Given the description of an element on the screen output the (x, y) to click on. 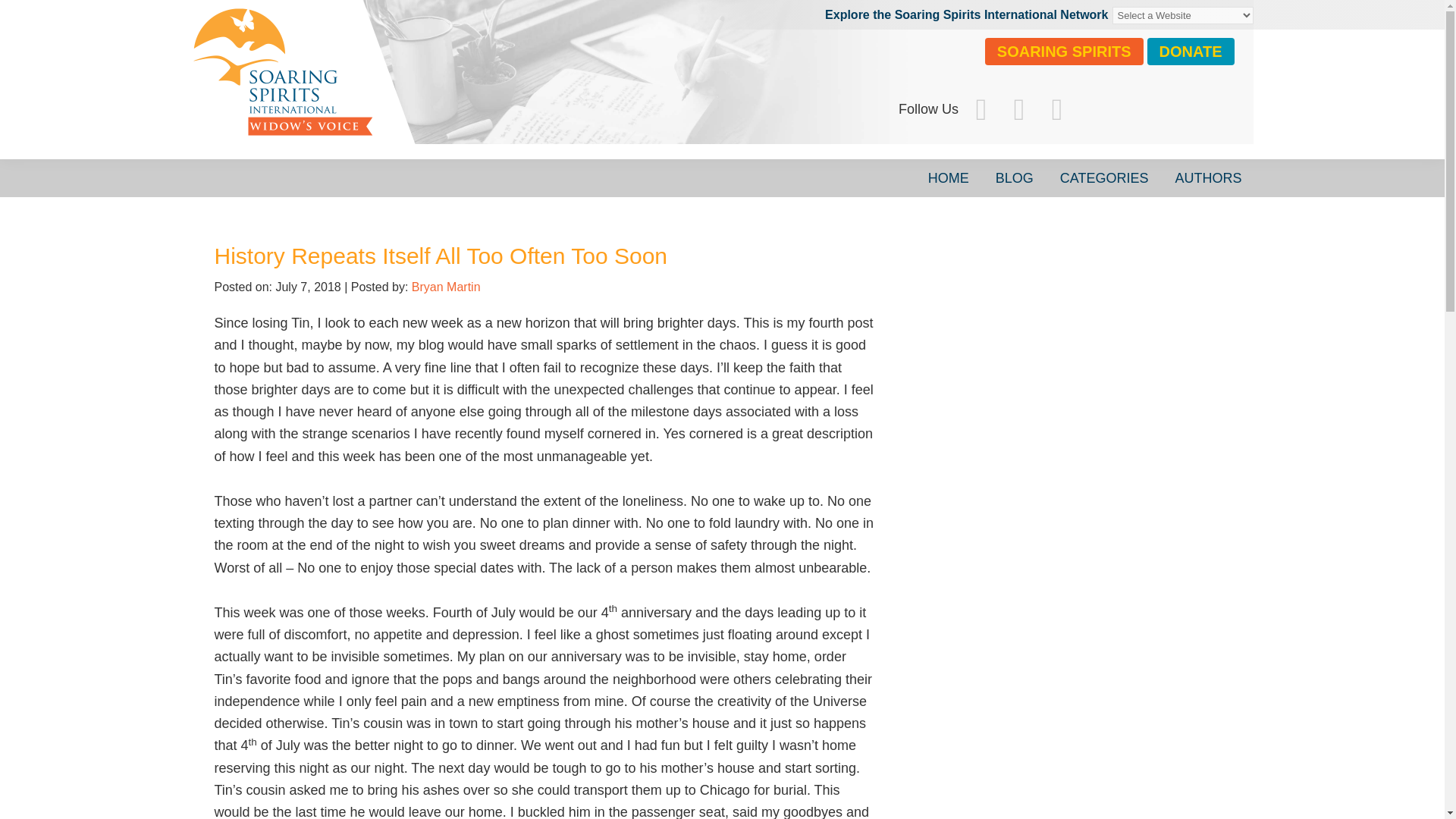
HOME (948, 177)
SOARING SPIRITS (1063, 51)
Instagram (1019, 109)
DONATE (1190, 51)
Bryan Martin (446, 286)
BLOG (1014, 177)
Homepage (418, 87)
Facebook (981, 109)
Widow's Voice (418, 87)
CATEGORIES (1104, 177)
AUTHORS (1207, 177)
YouTube (1056, 109)
